Given the description of an element on the screen output the (x, y) to click on. 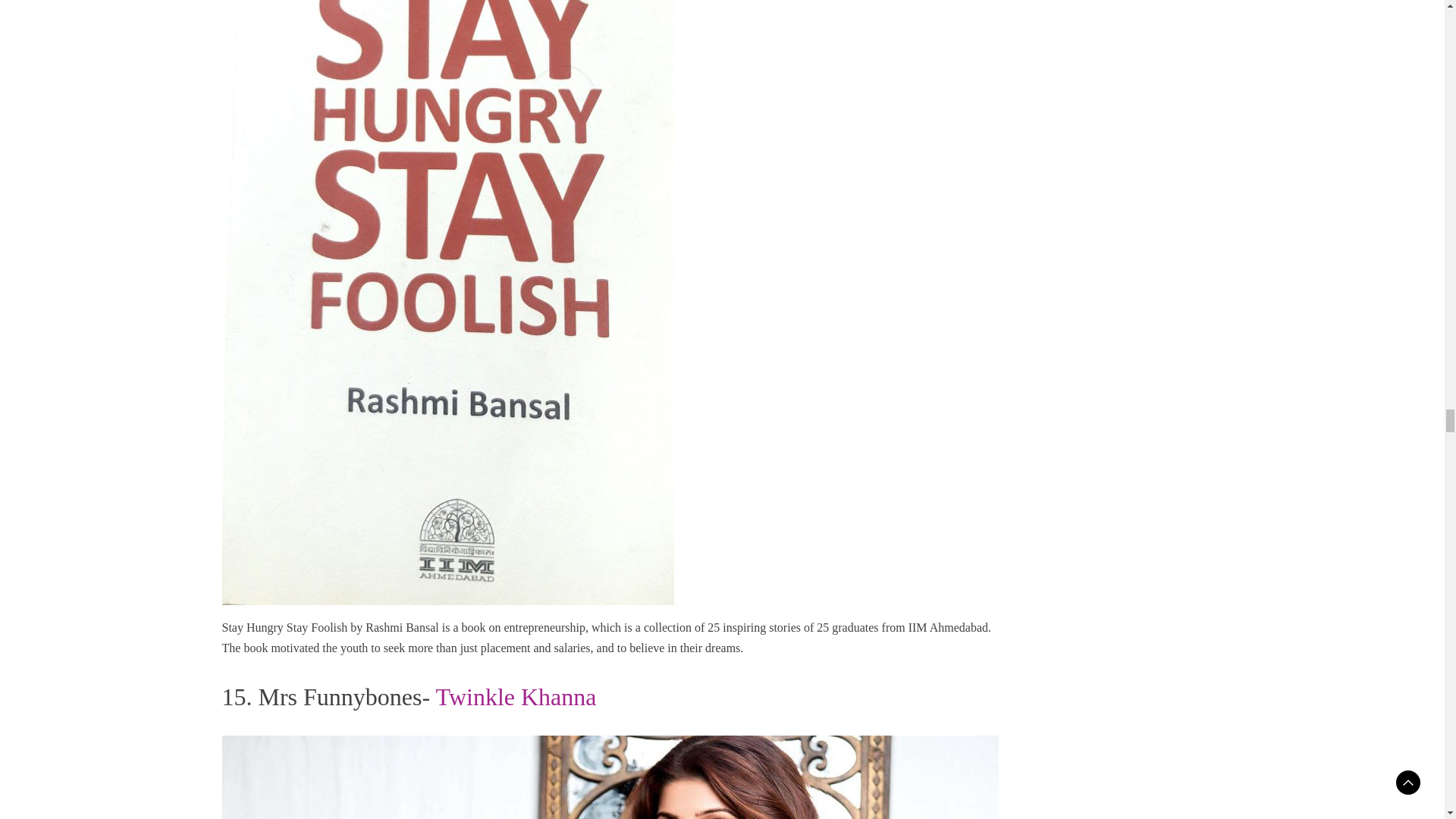
Twinkle Khanna (515, 696)
